Given the description of an element on the screen output the (x, y) to click on. 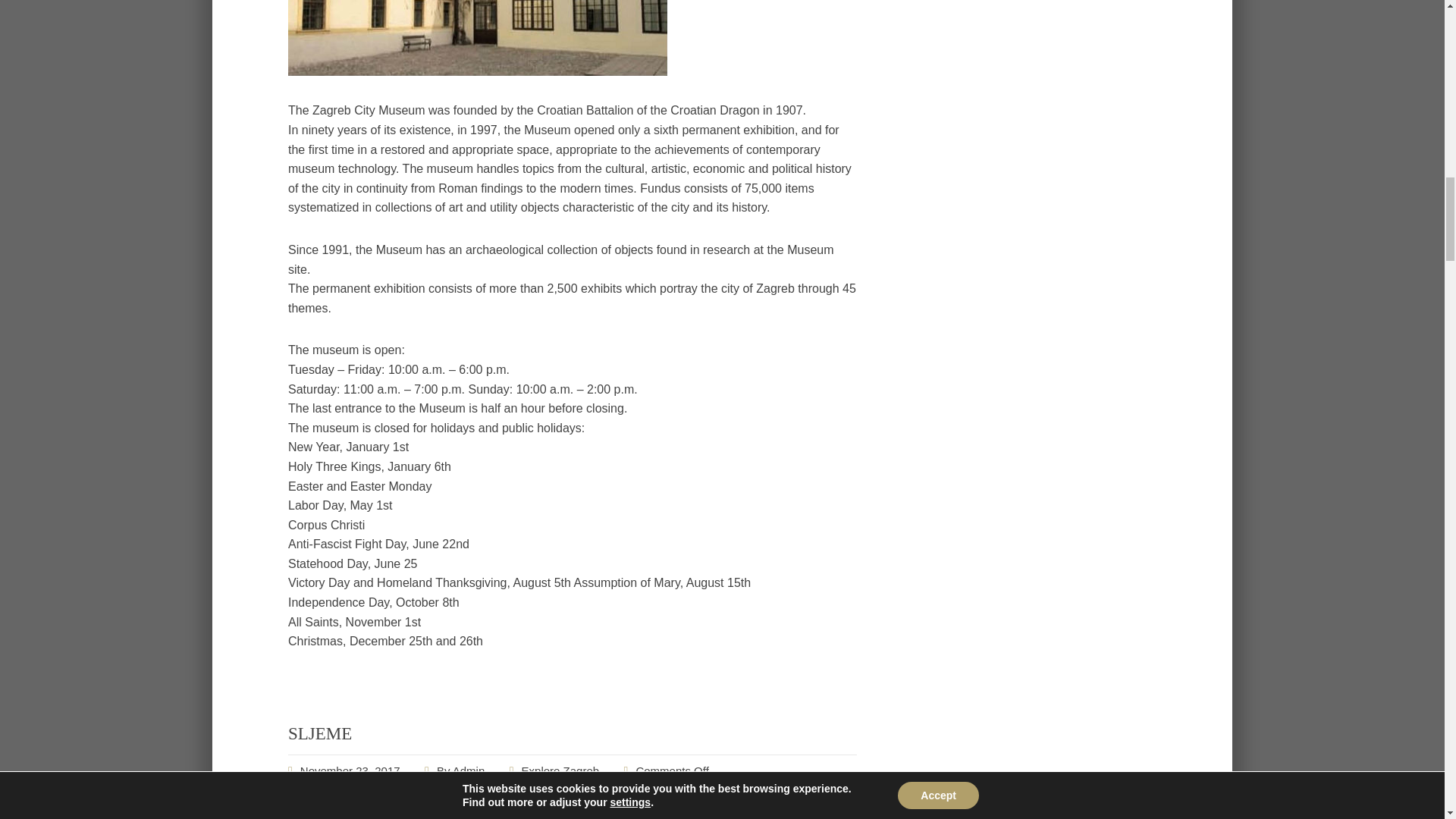
November 23, 2017 (349, 770)
SLJEME (320, 732)
Admin (468, 770)
SLJEME (320, 732)
SLJEME (349, 770)
Explore Zagreb (560, 770)
ZAGREB CITY MUSEUM (477, 71)
